Given the description of an element on the screen output the (x, y) to click on. 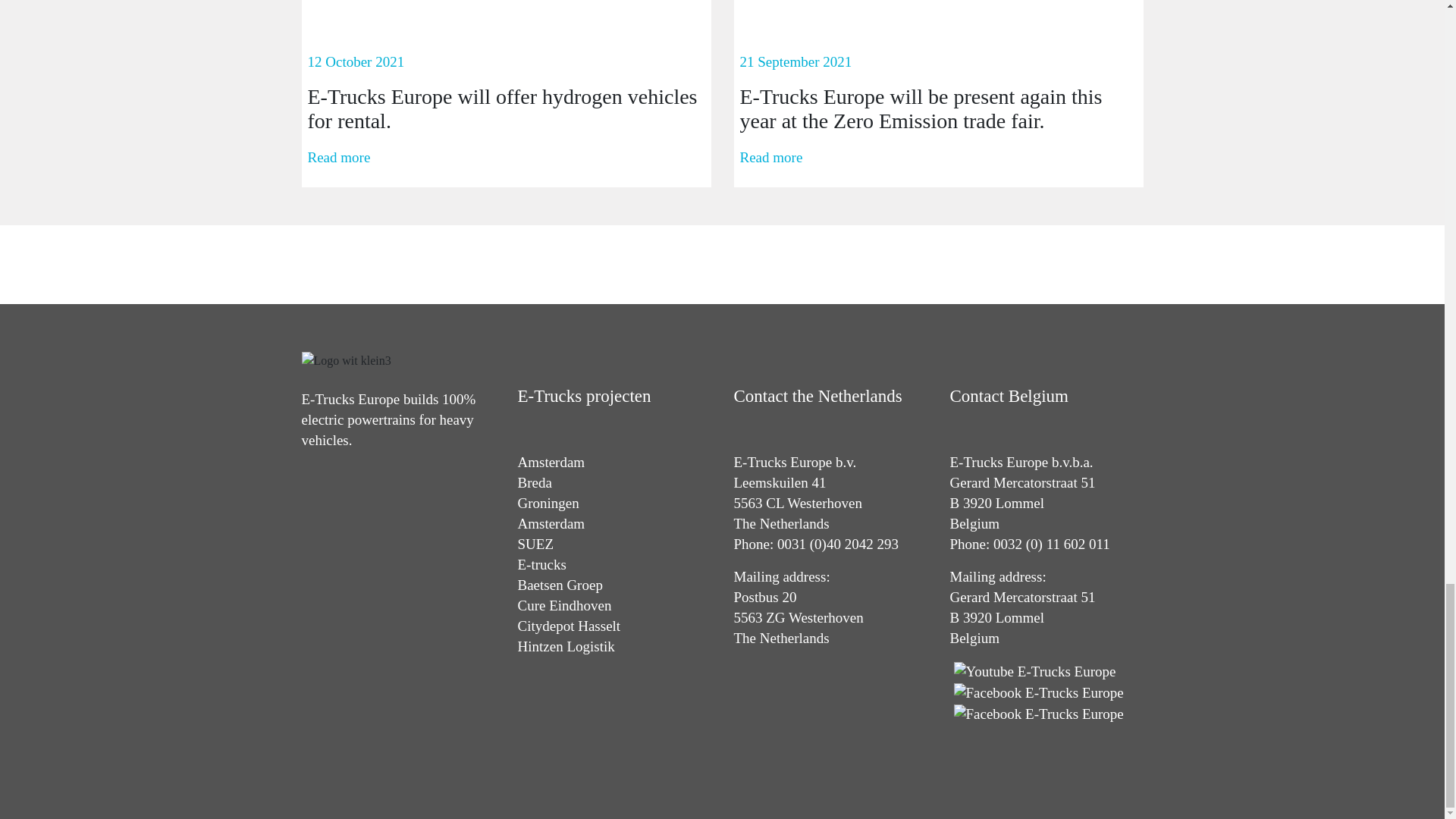
Read more (771, 158)
E-trucks (541, 564)
Breda (533, 482)
SUEZ (534, 544)
Hintzen Logistik (565, 646)
Cure Eindhoven (563, 605)
Groningen (547, 503)
Amsterdam (550, 462)
Citydepot Hasselt (568, 625)
Baetsen Groep (559, 584)
